Given the description of an element on the screen output the (x, y) to click on. 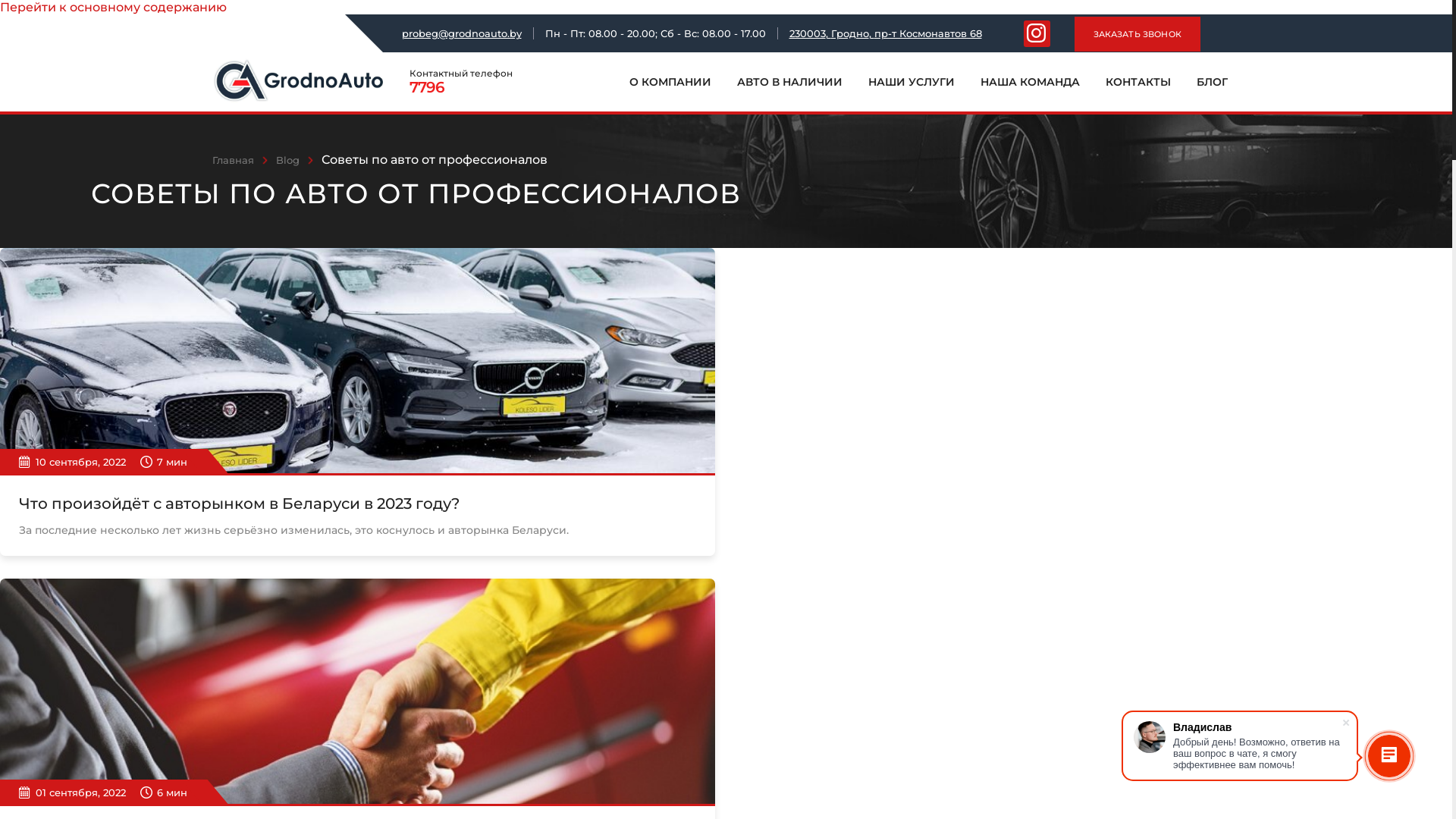
probeg@grodnoauto.by Element type: text (461, 33)
Blog Element type: text (287, 159)
7796 Element type: text (481, 87)
